Given the description of an element on the screen output the (x, y) to click on. 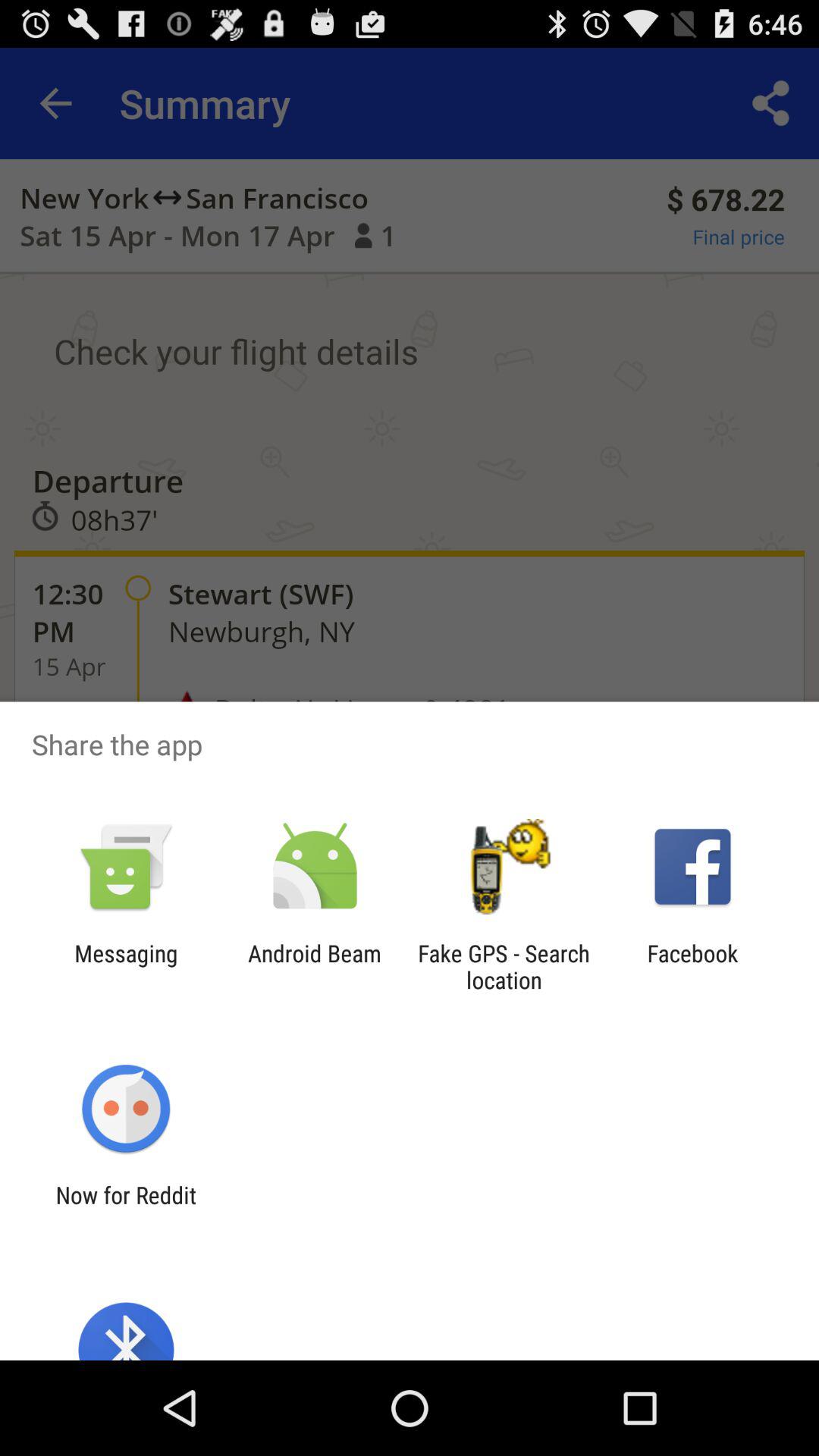
turn off now for reddit icon (125, 1208)
